Given the description of an element on the screen output the (x, y) to click on. 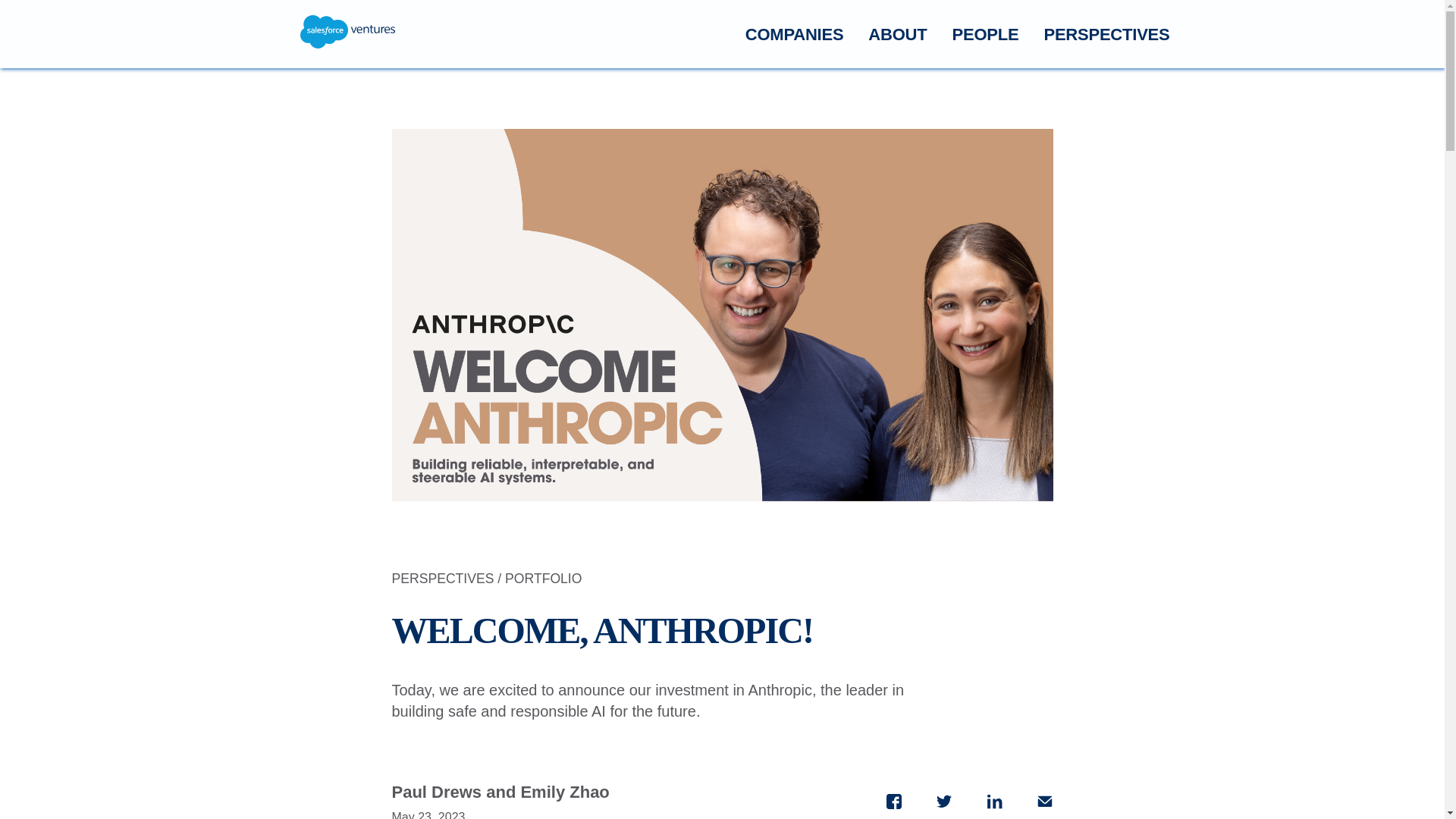
PEOPLE (984, 35)
COMPANIES (794, 35)
ABOUT (896, 35)
PERSPECTIVES (1106, 35)
